Given the description of an element on the screen output the (x, y) to click on. 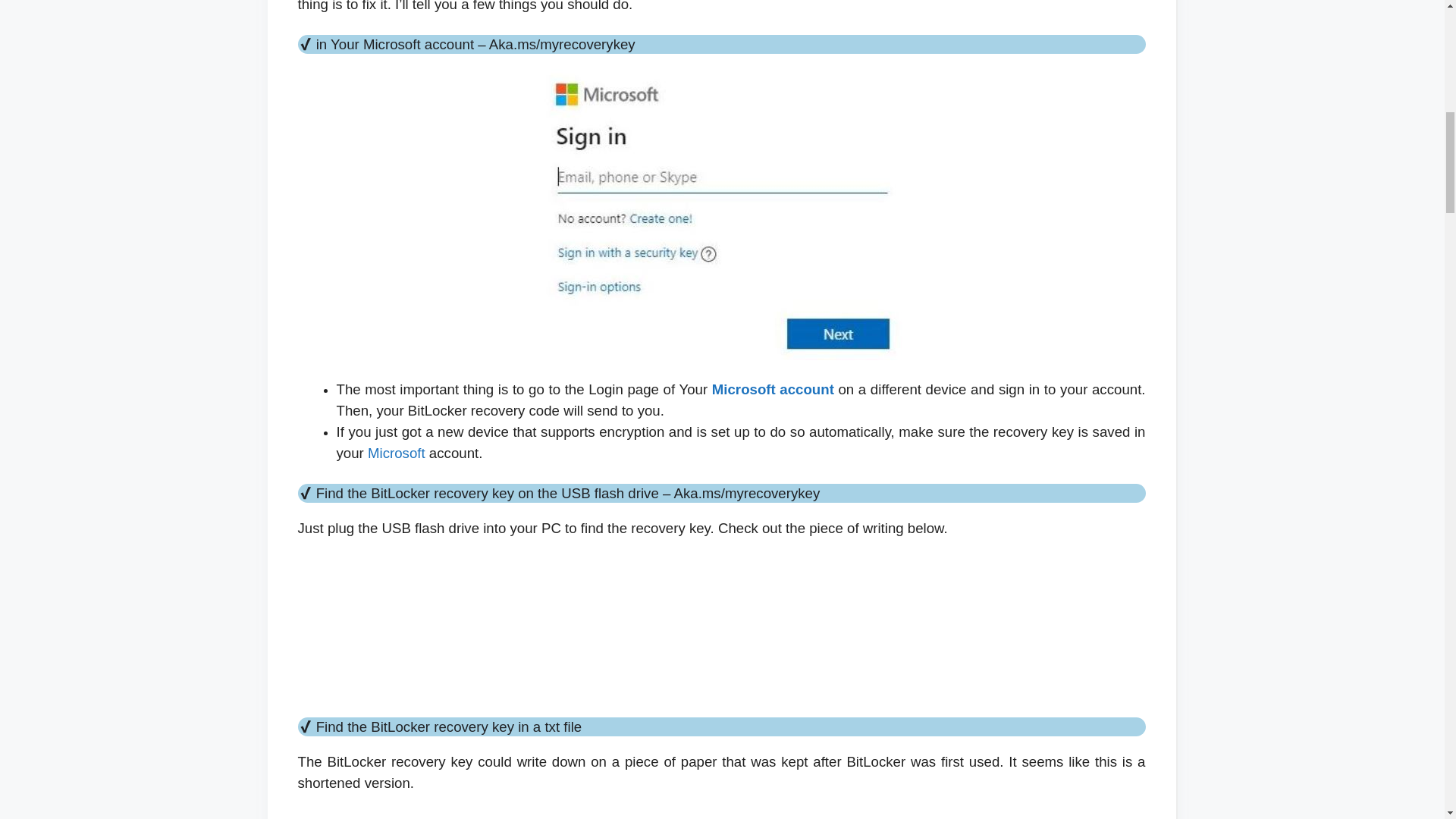
Microsoft account (772, 389)
Microsoft (396, 453)
Microsoft (396, 453)
Scroll back to top (1406, 720)
